Given the description of an element on the screen output the (x, y) to click on. 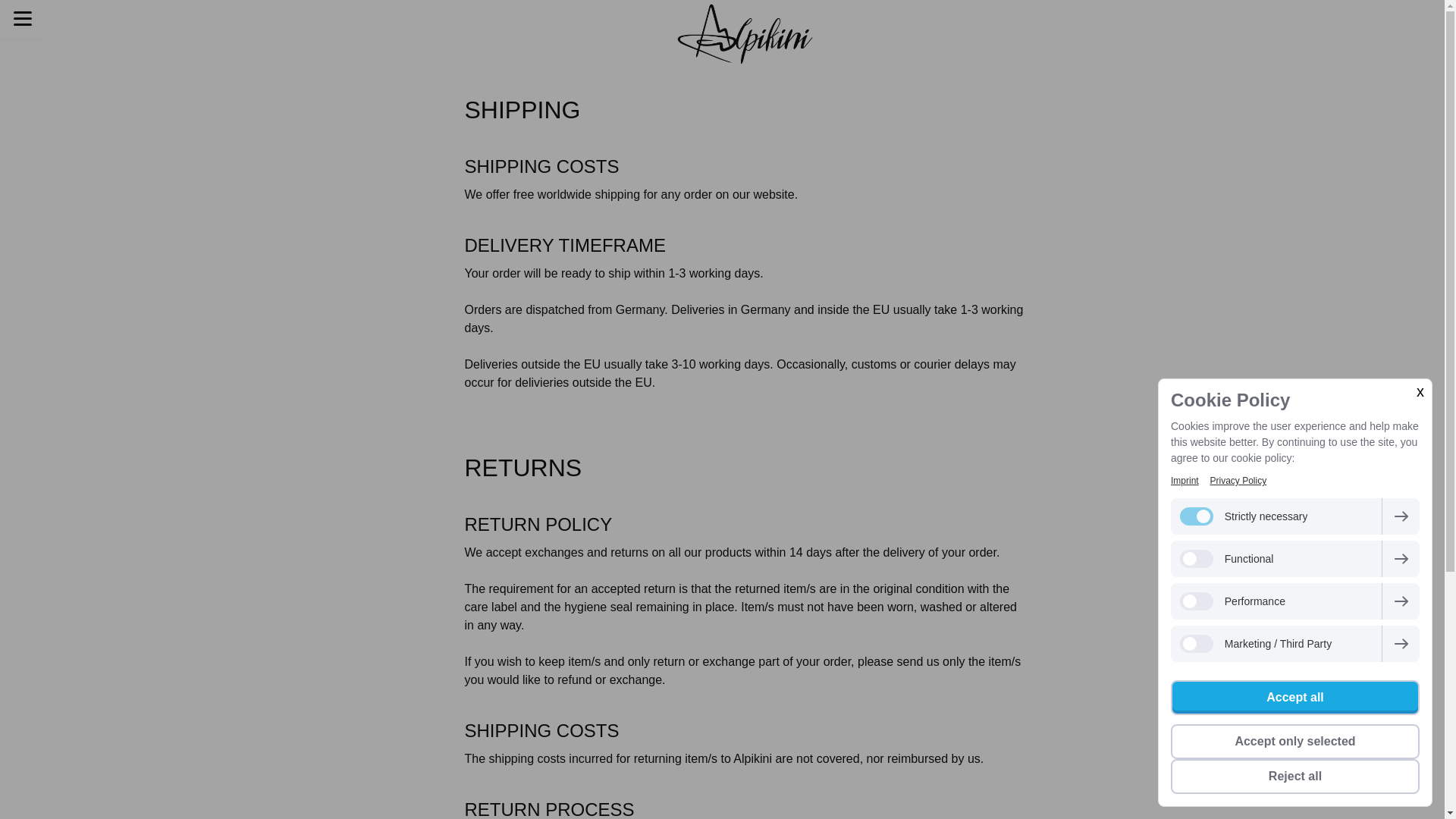
Imprint (1184, 480)
Privacy Policy (1237, 480)
